Given the description of an element on the screen output the (x, y) to click on. 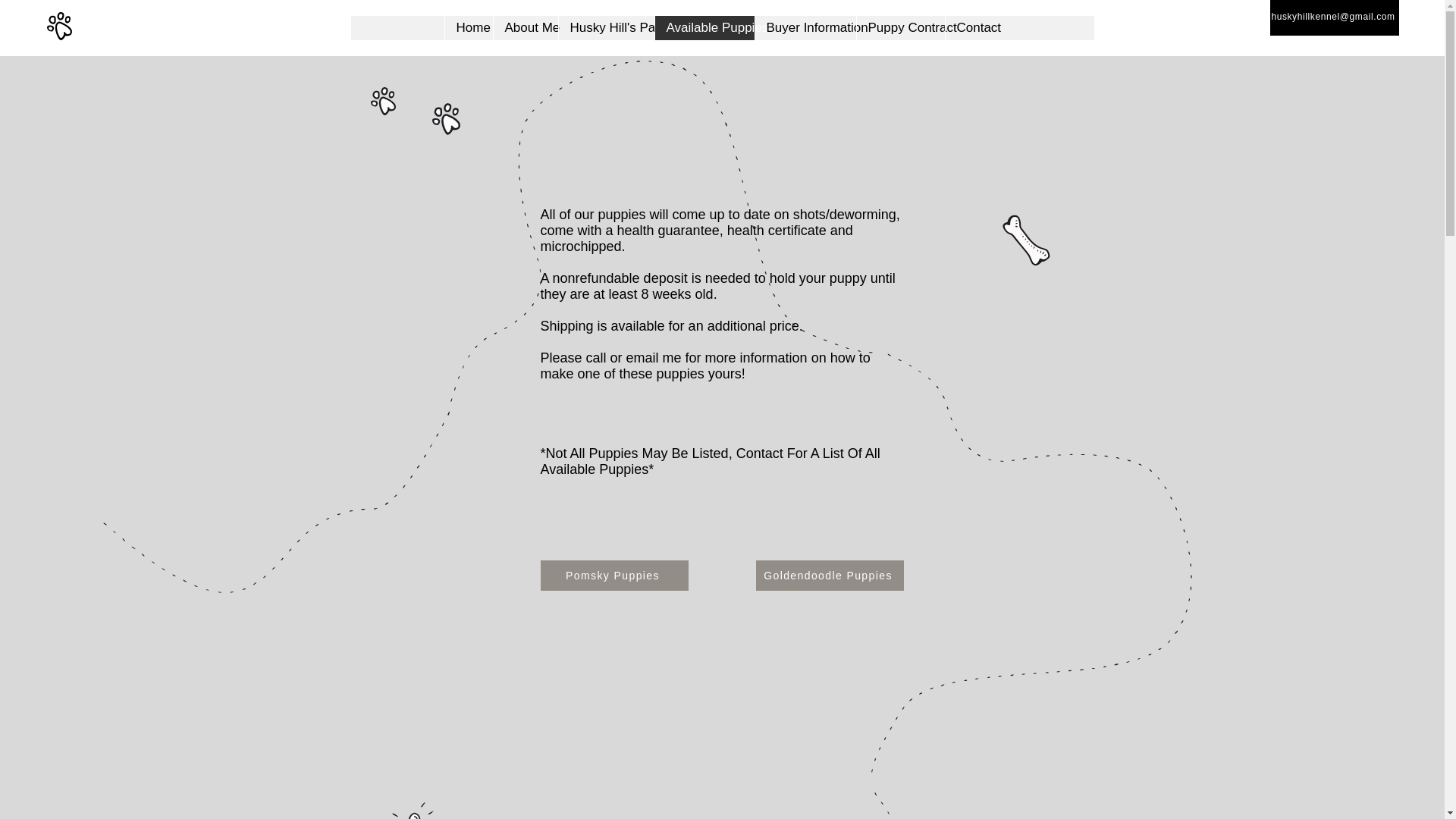
Puppy Contract (899, 27)
About Me (525, 27)
Pomsky Puppies (613, 575)
Available Puppies (703, 27)
Husky Hill's Pack (605, 27)
Buyer Information (805, 27)
Contact (972, 27)
Home (468, 27)
Goldendoodle Puppies (828, 575)
